Given the description of an element on the screen output the (x, y) to click on. 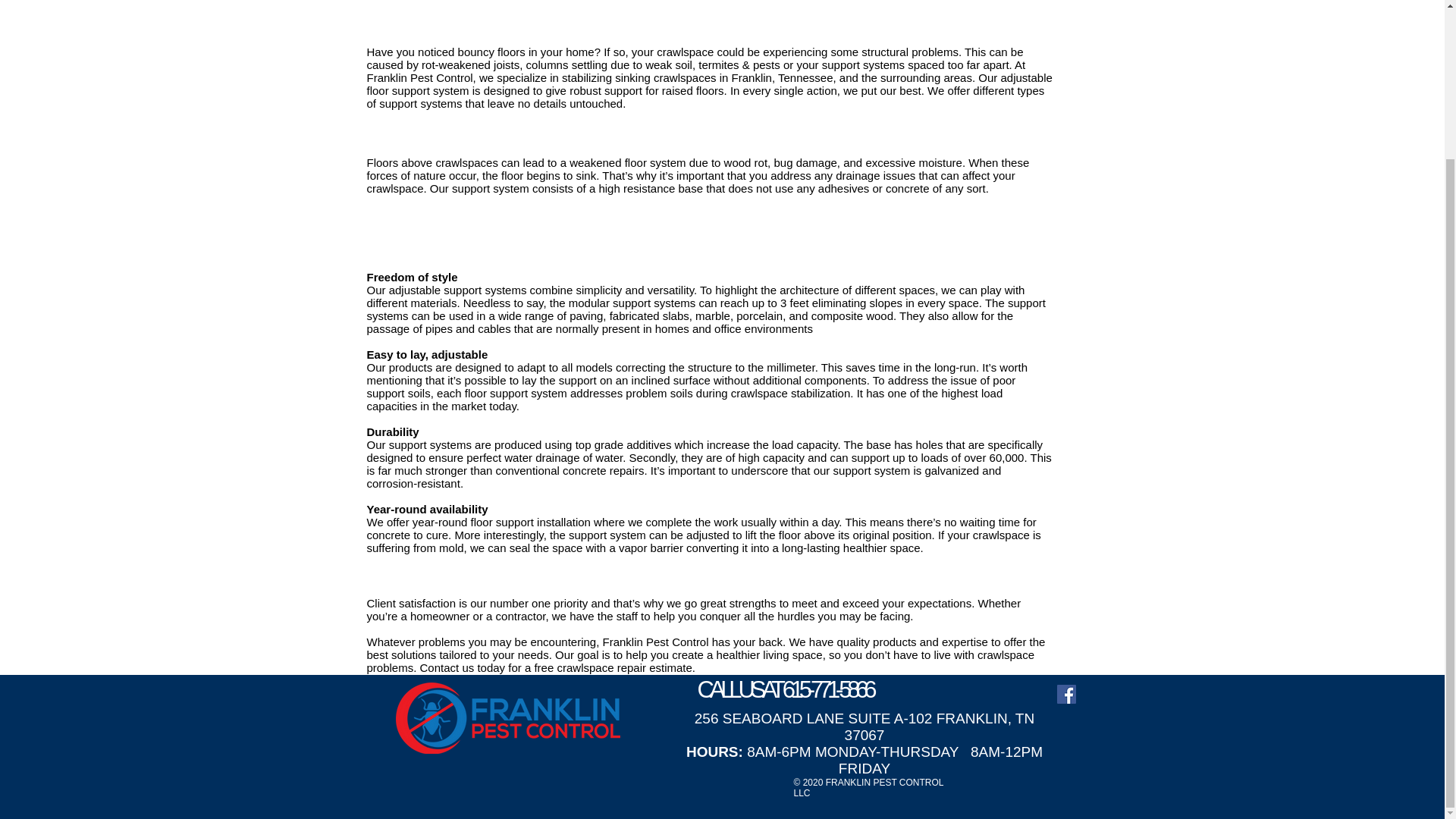
floor support installation (530, 521)
